Given the description of an element on the screen output the (x, y) to click on. 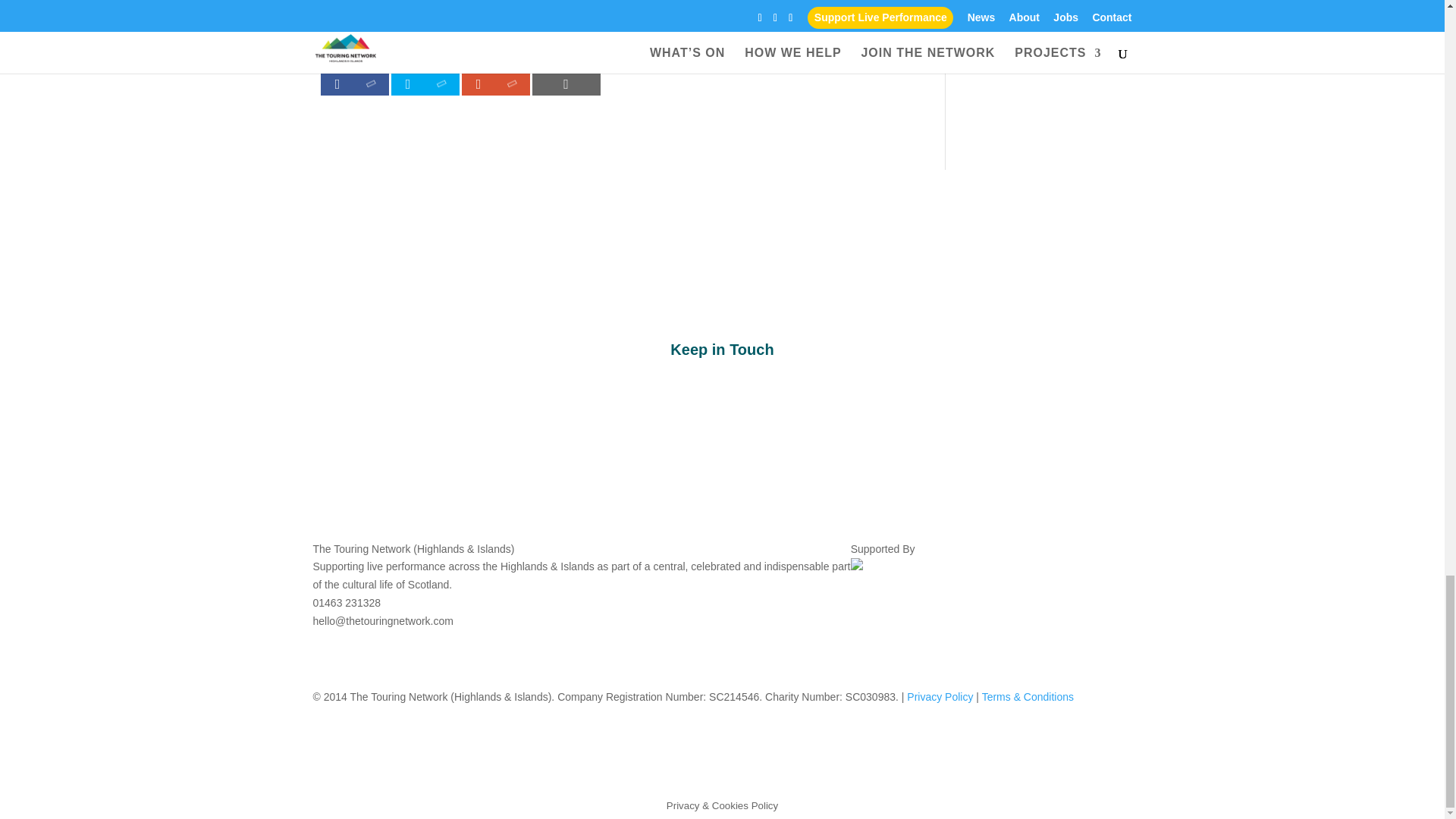
creative-scotland (856, 566)
here (613, 24)
here  (451, 24)
